Given the description of an element on the screen output the (x, y) to click on. 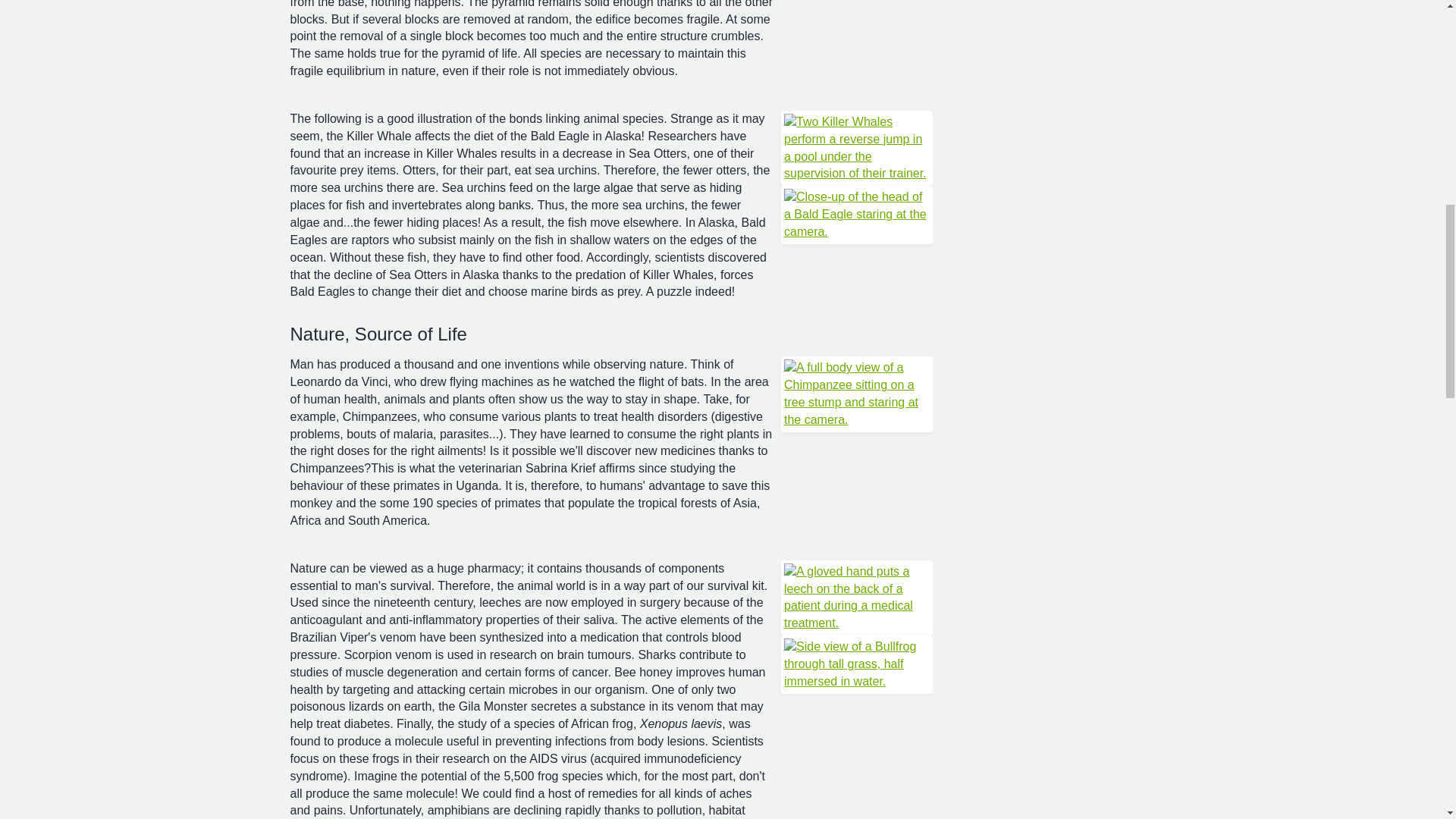
Killer Whale (856, 147)
Bullfrog (856, 664)
Chimpanzee (856, 393)
Leech (856, 597)
Bald Eagle (856, 214)
